Given the description of an element on the screen output the (x, y) to click on. 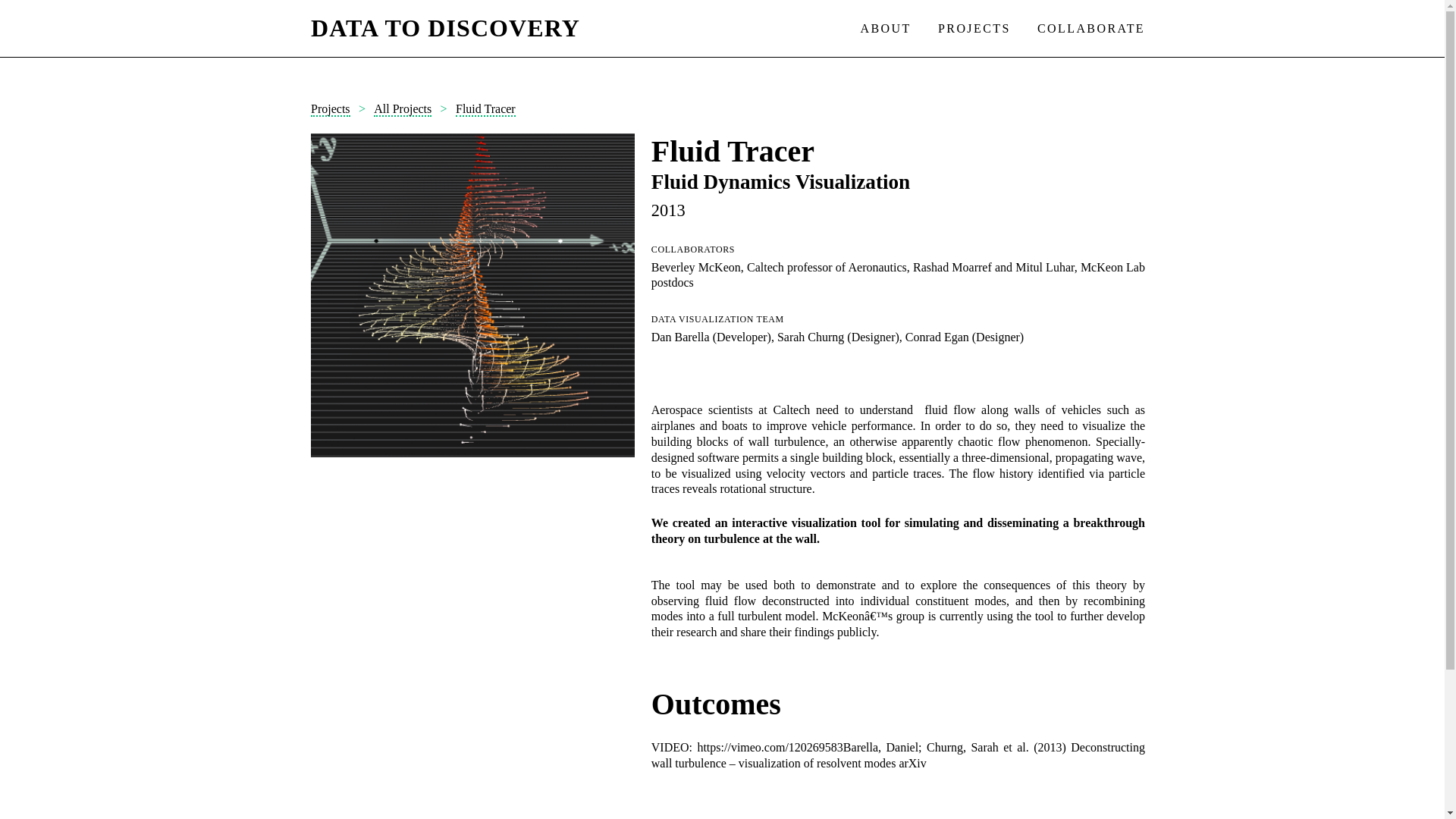
Projects (330, 109)
PROJECTS (973, 28)
ABOUT (885, 28)
DATA TO DISCOVERY (445, 28)
All Projects (402, 109)
COLLABORATE (1091, 28)
